Given the description of an element on the screen output the (x, y) to click on. 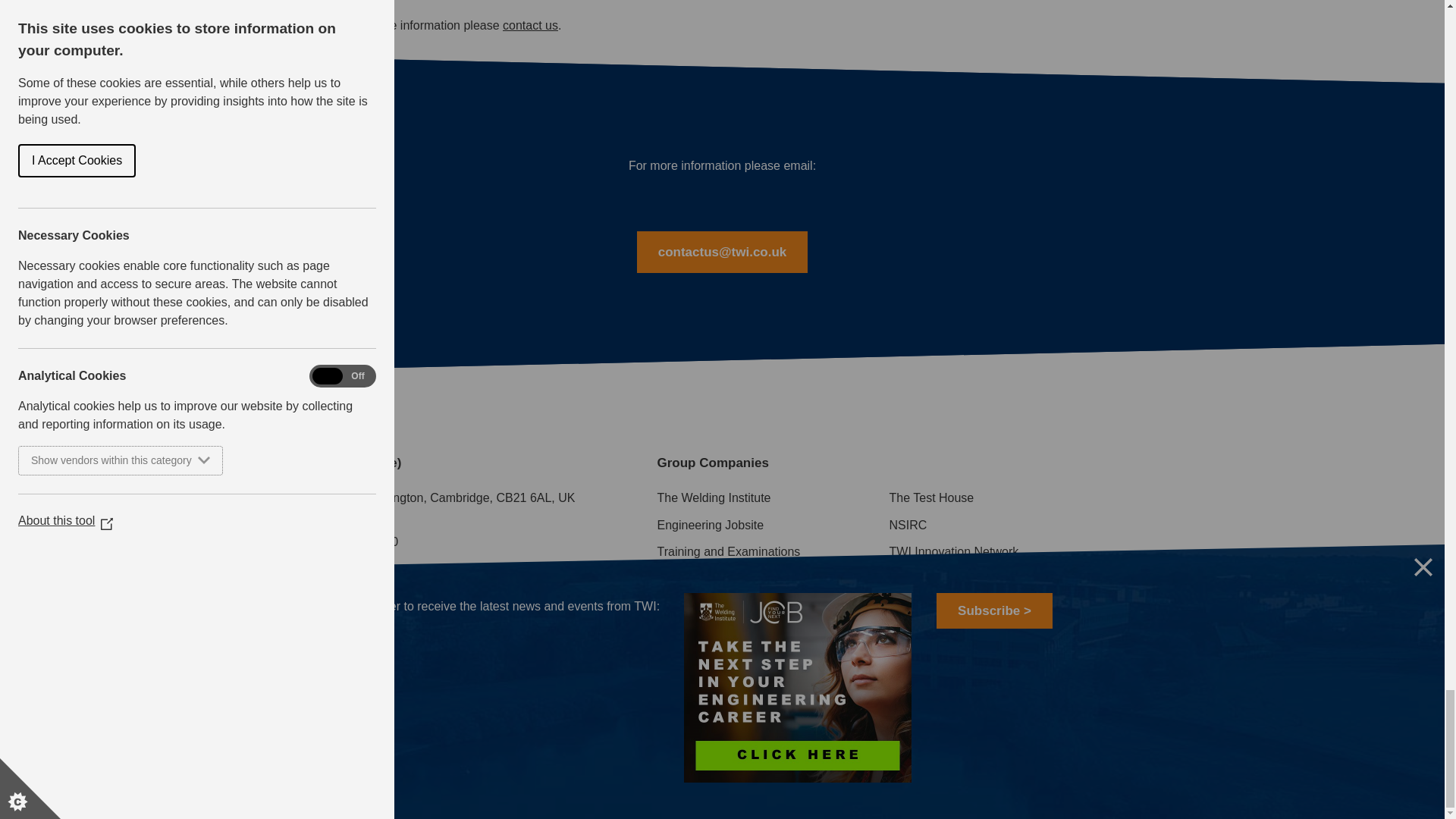
Contact Us (529, 24)
Subscribe to our newsletters (352, 628)
